Given the description of an element on the screen output the (x, y) to click on. 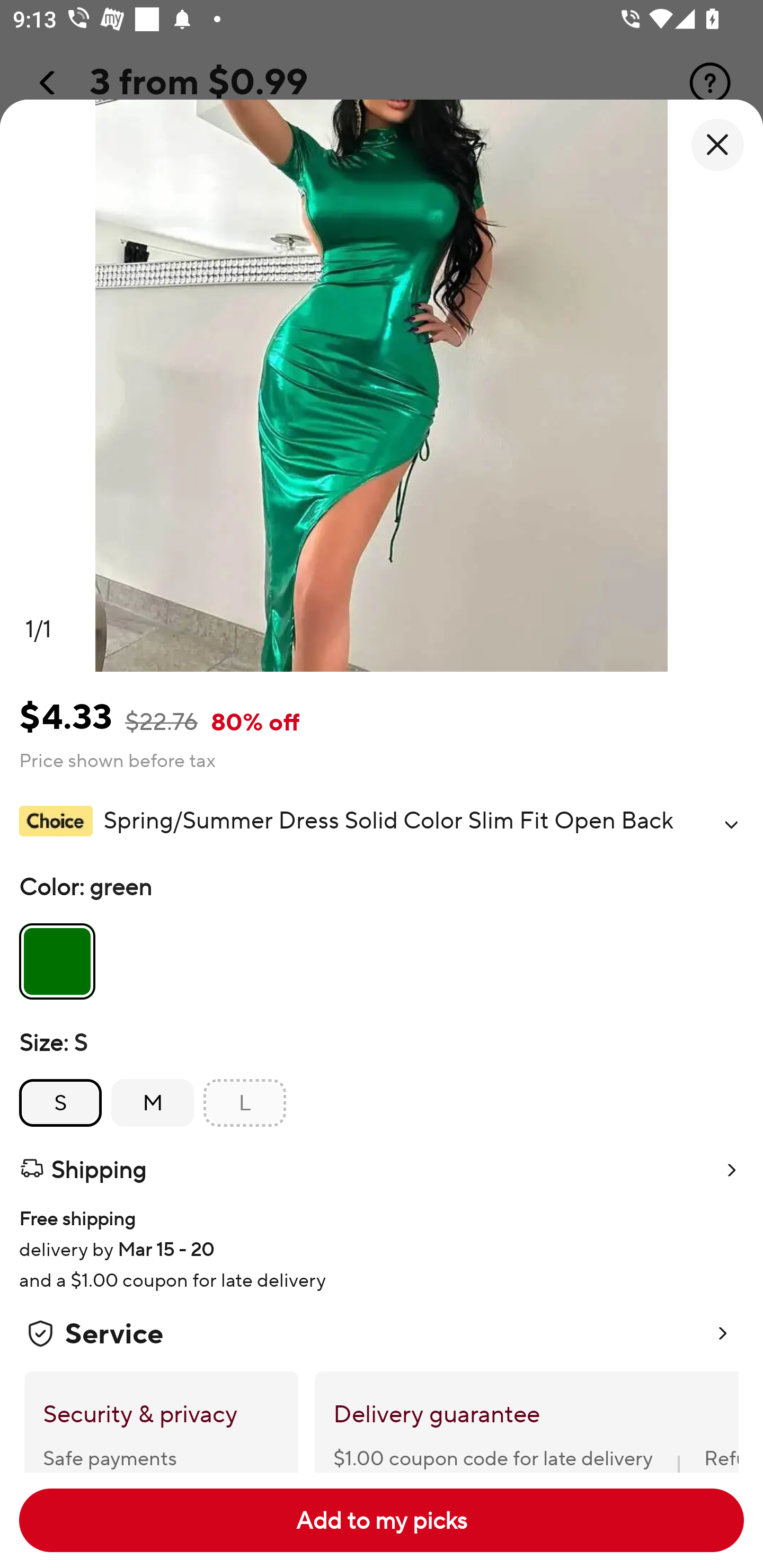
close  (717, 144)
 (730, 824)
S (60, 1102)
M (152, 1102)
L (244, 1102)
Add to my picks (381, 1520)
